Given the description of an element on the screen output the (x, y) to click on. 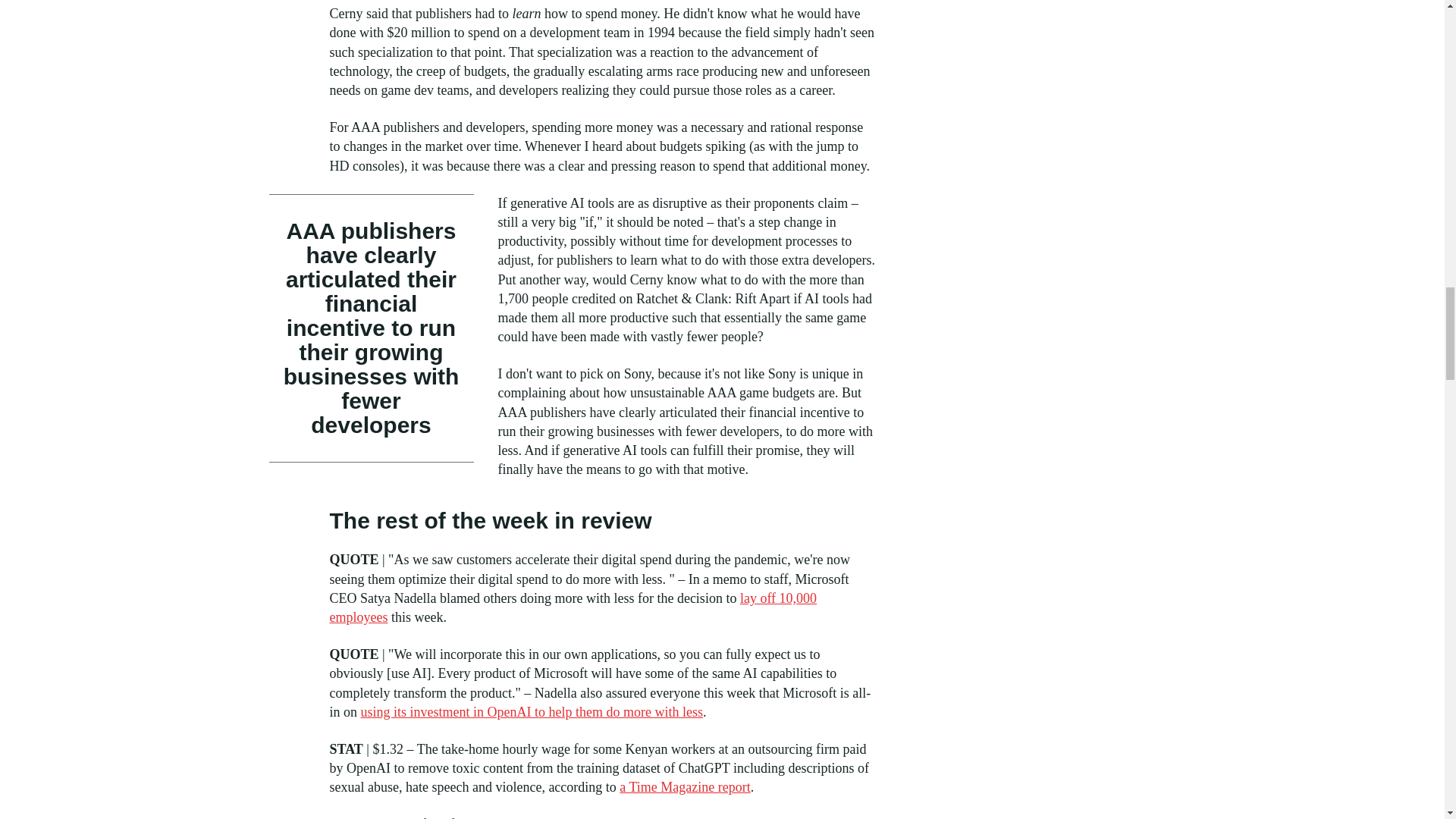
a Time Magazine report (684, 786)
lay off 10,000 employees (572, 607)
